Given the description of an element on the screen output the (x, y) to click on. 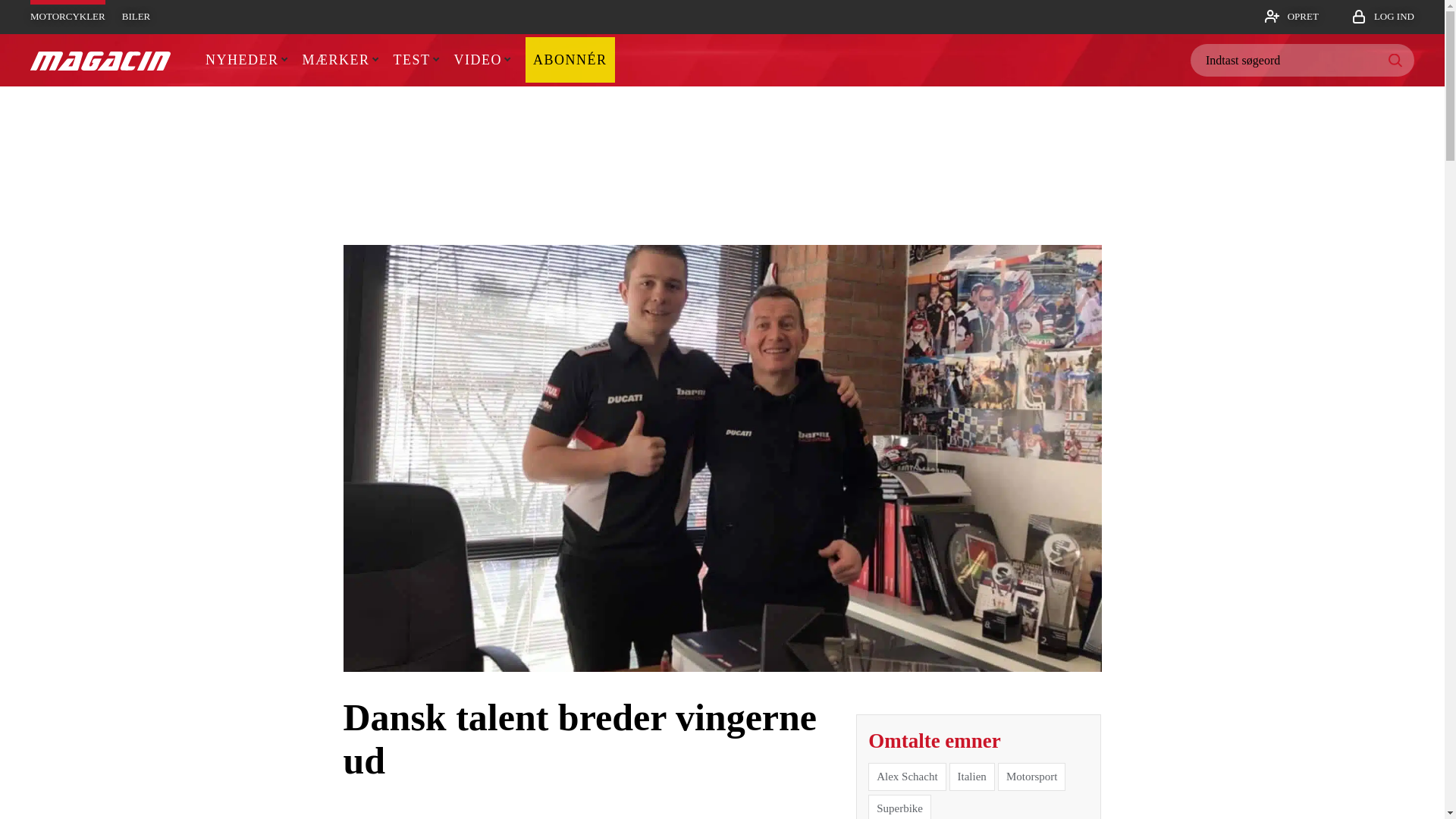
MOTORCYKLER (67, 16)
